Given the description of an element on the screen output the (x, y) to click on. 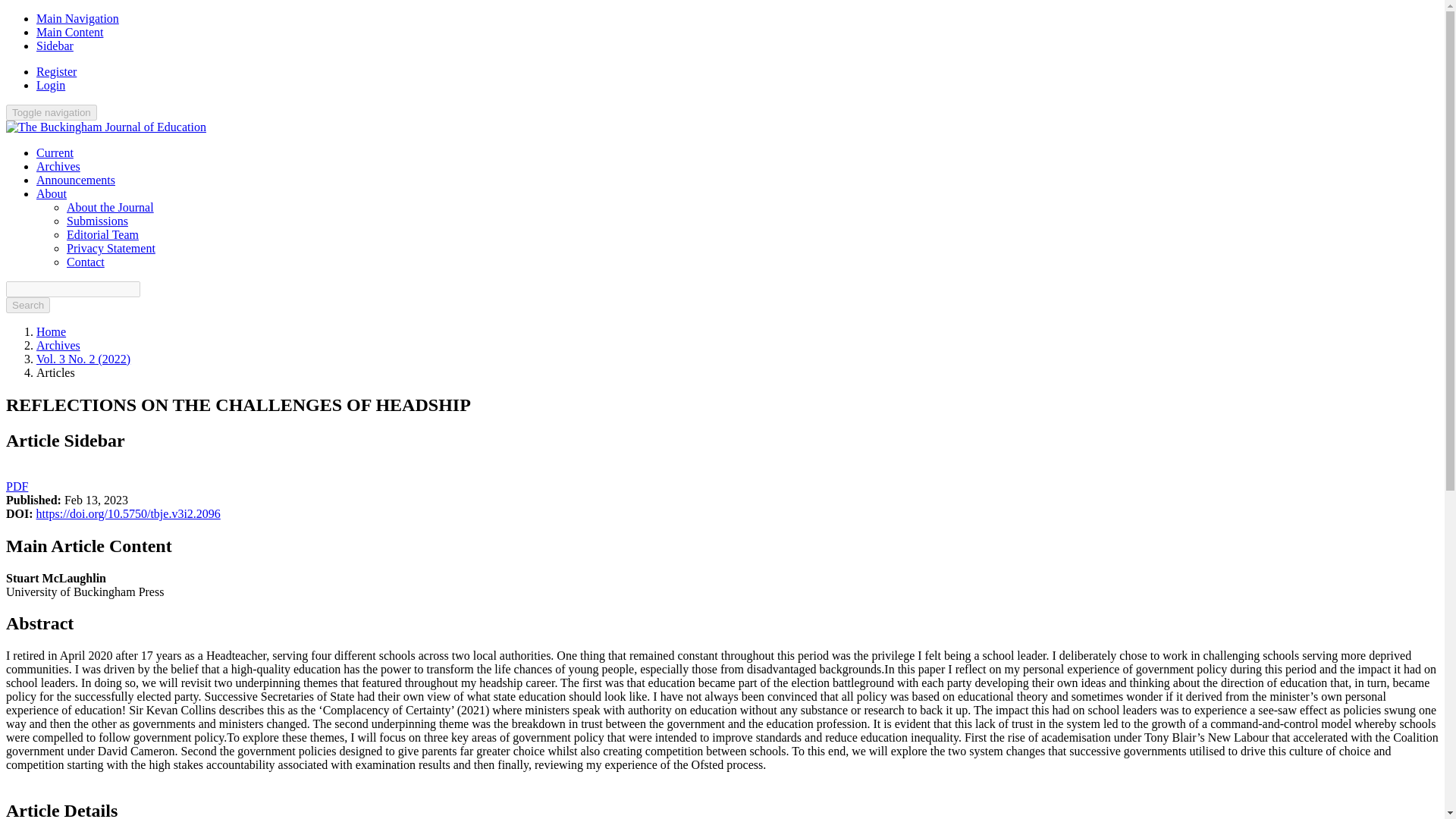
Sidebar (55, 45)
PDF (16, 486)
Announcements (75, 179)
Search (27, 304)
Submissions (97, 220)
Contact (85, 261)
Archives (58, 165)
Home (50, 331)
About (51, 193)
Register (56, 71)
